Given the description of an element on the screen output the (x, y) to click on. 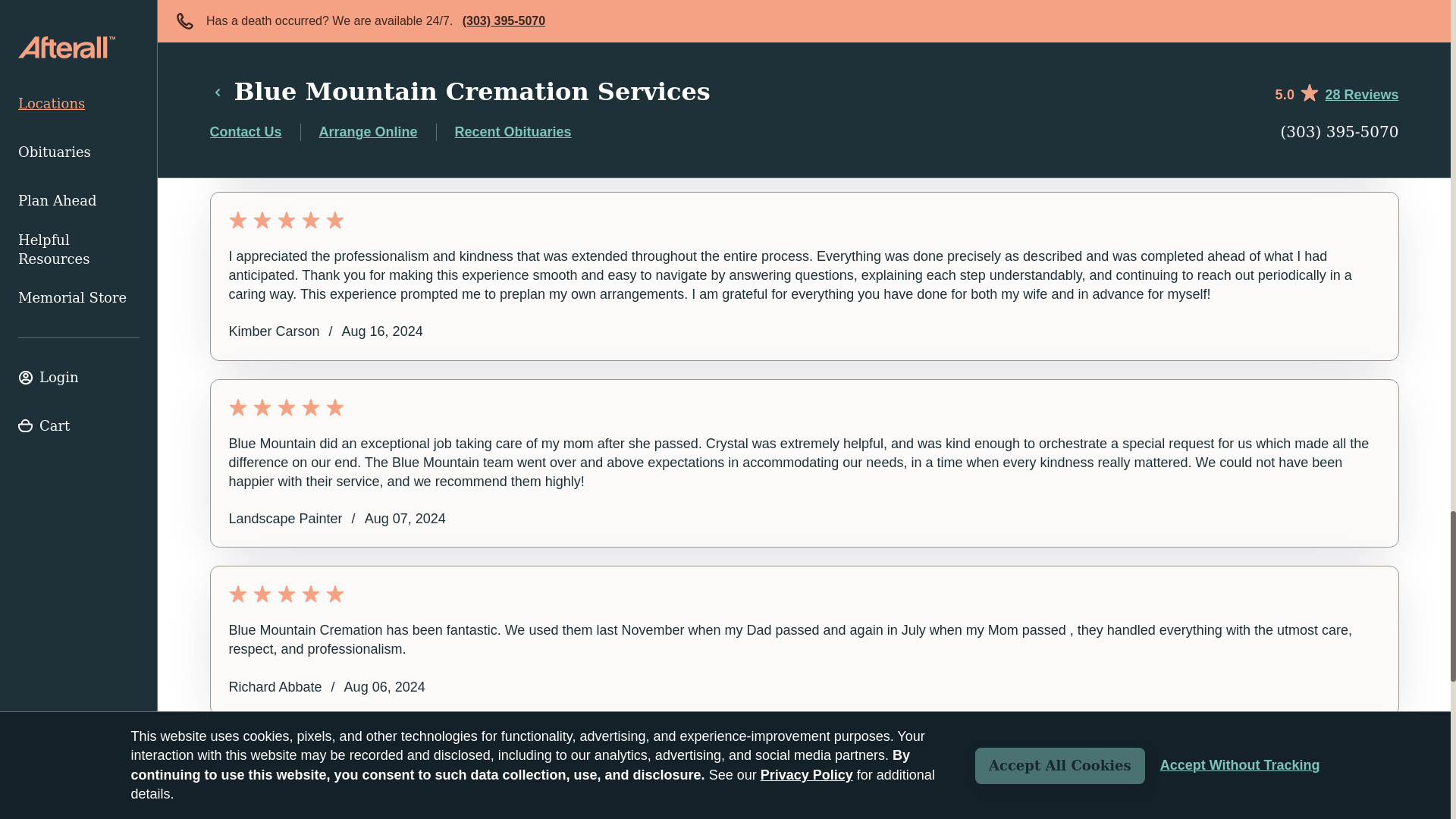
5 out of 5 Customer Rating (804, 219)
5 out of 5 Customer Rating (804, 406)
5 out of 5 Customer Rating (804, 761)
5 out of 5 Customer Rating (804, 70)
5 out of 5 Customer Rating (804, 593)
